Given the description of an element on the screen output the (x, y) to click on. 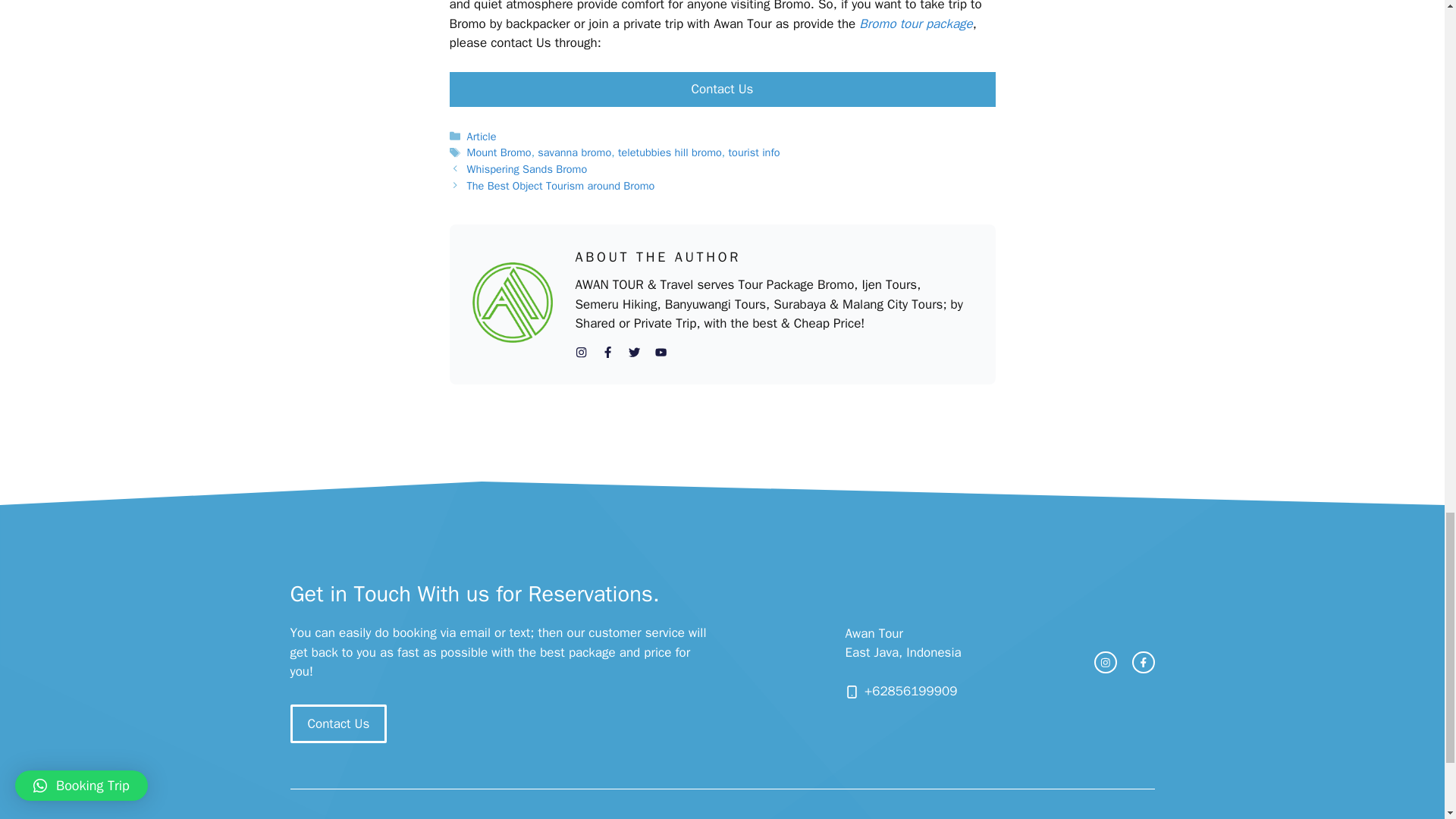
savanna bromo (574, 151)
tourist info (753, 151)
The Best Object Tourism around Bromo (561, 185)
Mount Bromo (499, 151)
Contact Us (721, 89)
Whispering Sands Bromo (527, 169)
teletubbies hill bromo (669, 151)
Contact Us (338, 723)
Author-Bio (511, 302)
Article (481, 136)
Bromo tour package (915, 23)
